Given the description of an element on the screen output the (x, y) to click on. 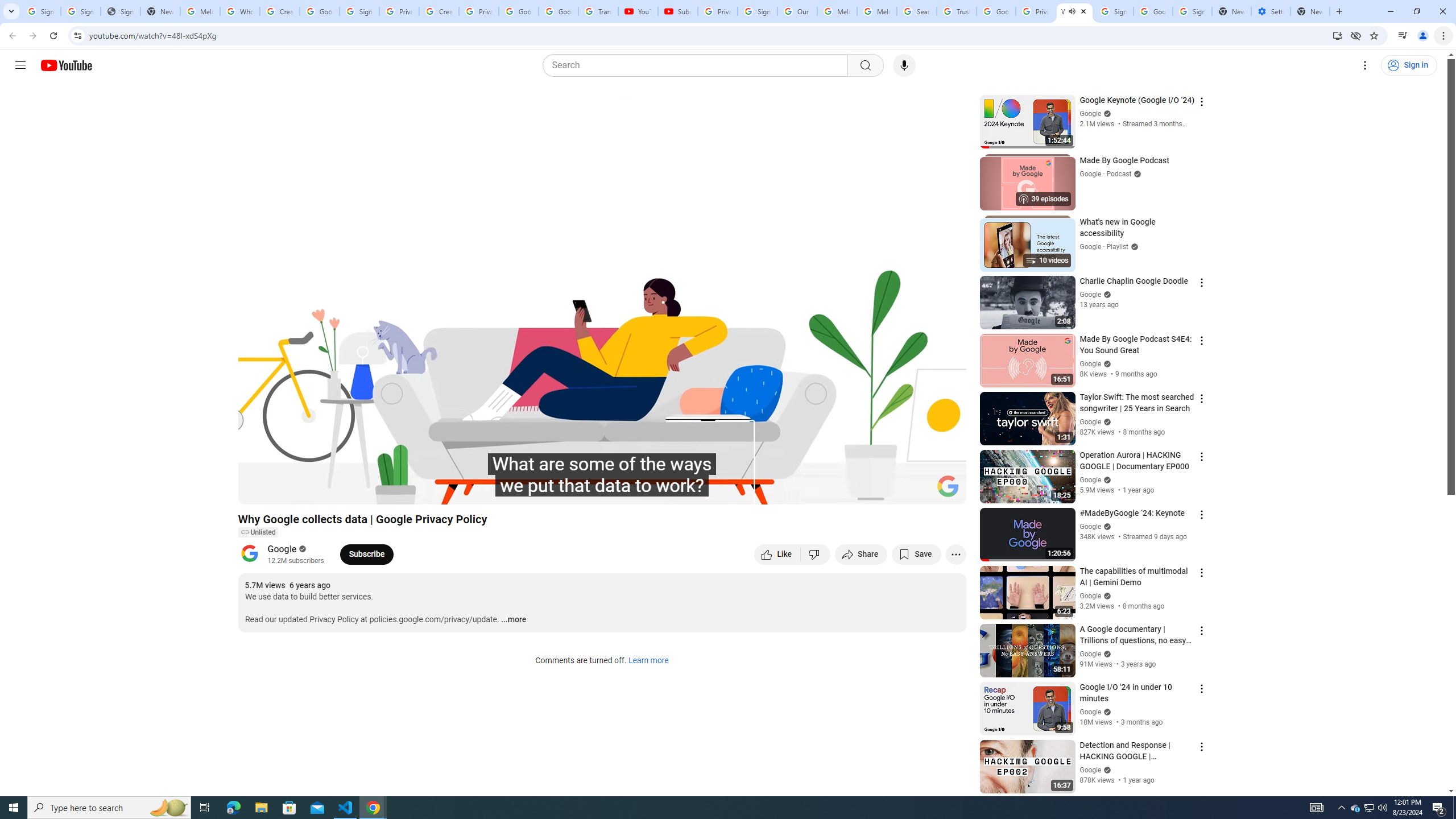
Channel watermark (947, 486)
Sign In - USA TODAY (120, 11)
Google Cybersecurity Innovations - Google Safety Center (1152, 11)
Verified (1106, 769)
Who is my administrator? - Google Account Help (239, 11)
